Given the description of an element on the screen output the (x, y) to click on. 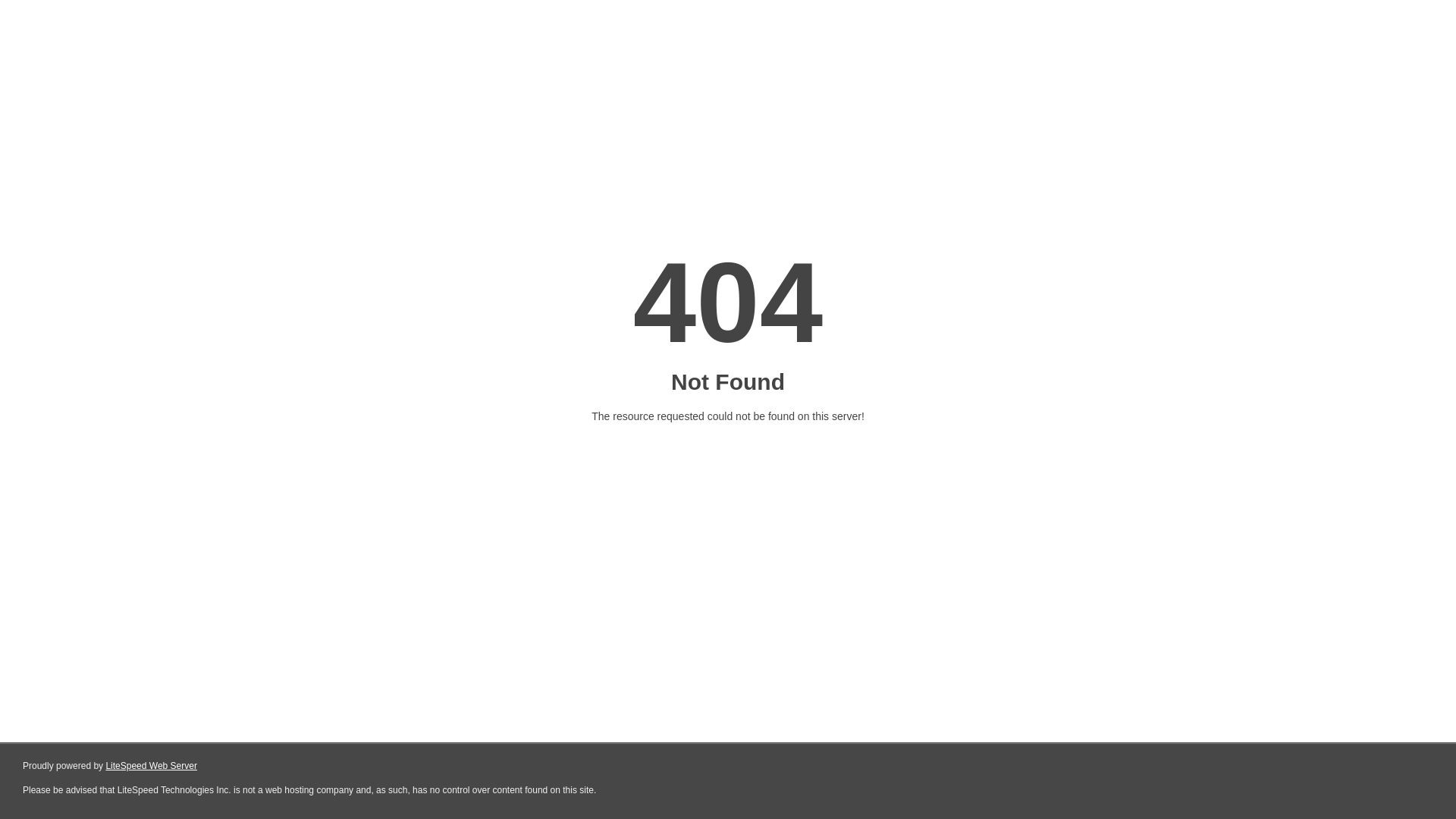
LiteSpeed Web Server Element type: text (151, 765)
